Given the description of an element on the screen output the (x, y) to click on. 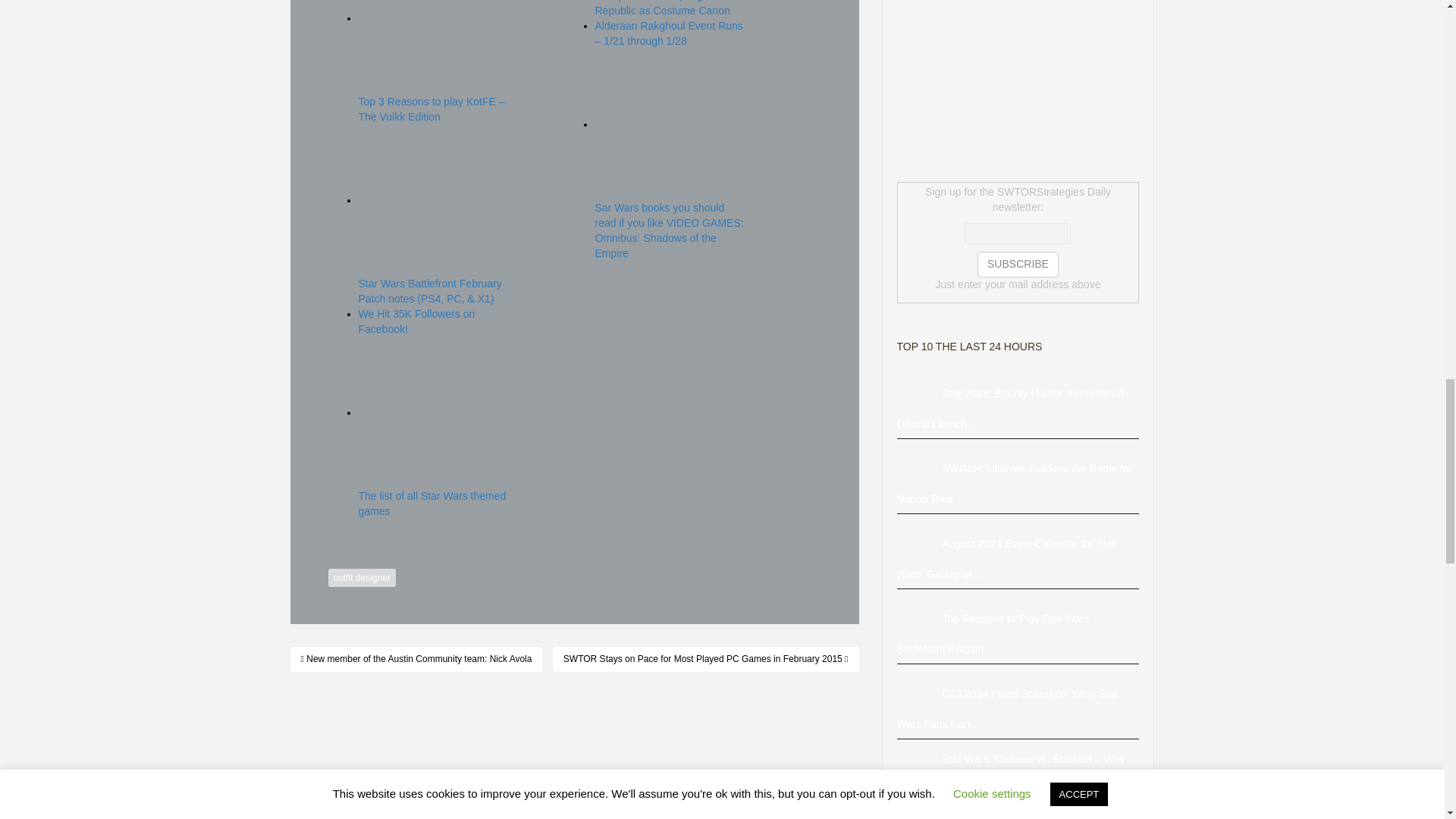
Subscribe (1017, 264)
SWGoH: Ultimate Guide to the Battle for Naboo Raid (919, 469)
Top Reasons to Play Star Wars Battlefront II Again (919, 619)
SWTOR Game Update 4.0.2 Patch Notes (919, 810)
